Given the description of an element on the screen output the (x, y) to click on. 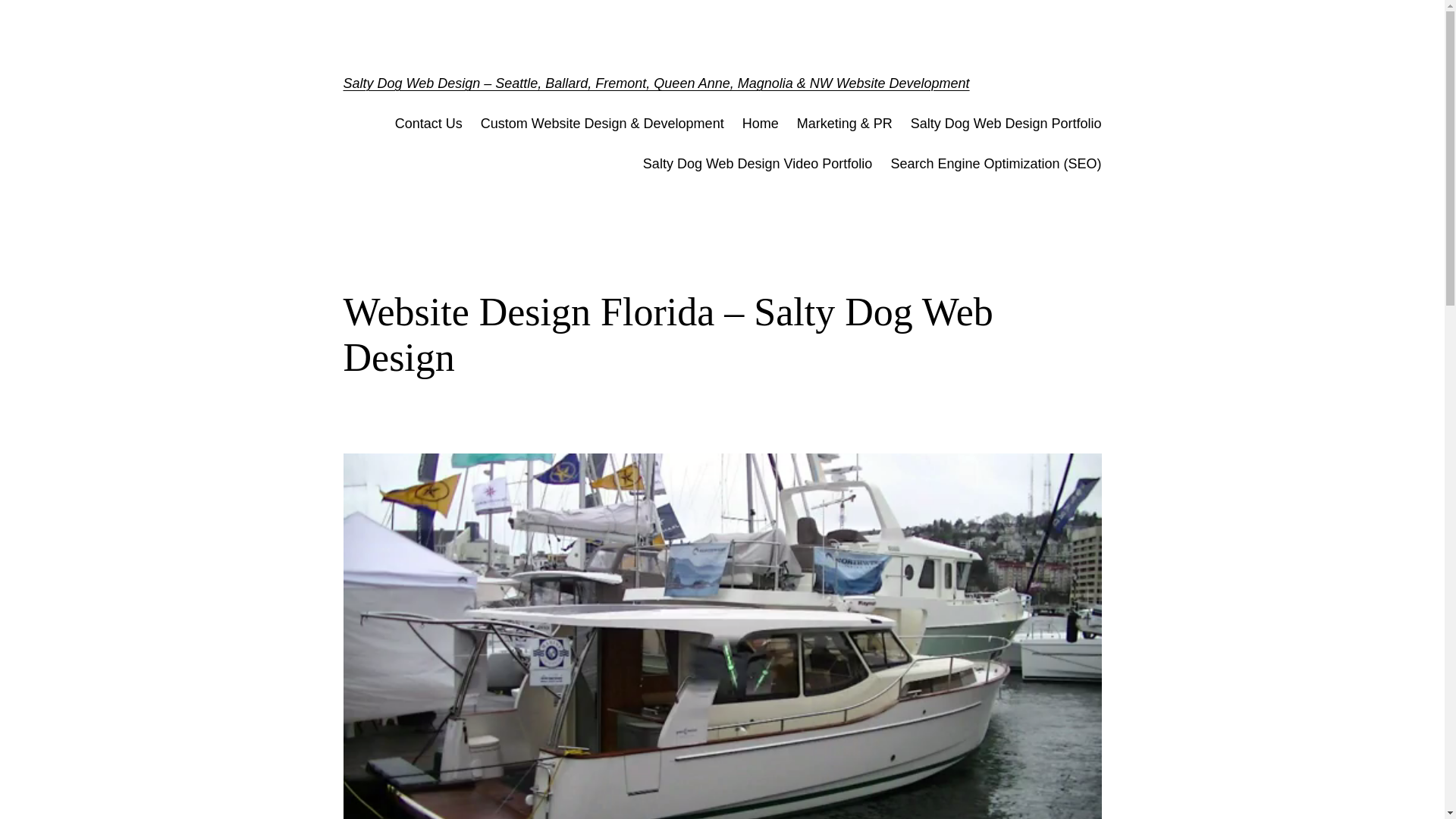
Contact Us (428, 124)
Salty Dog Web Design Video Portfolio (757, 164)
Home (760, 124)
Salty Dog Web Design Portfolio (1006, 124)
